Given the description of an element on the screen output the (x, y) to click on. 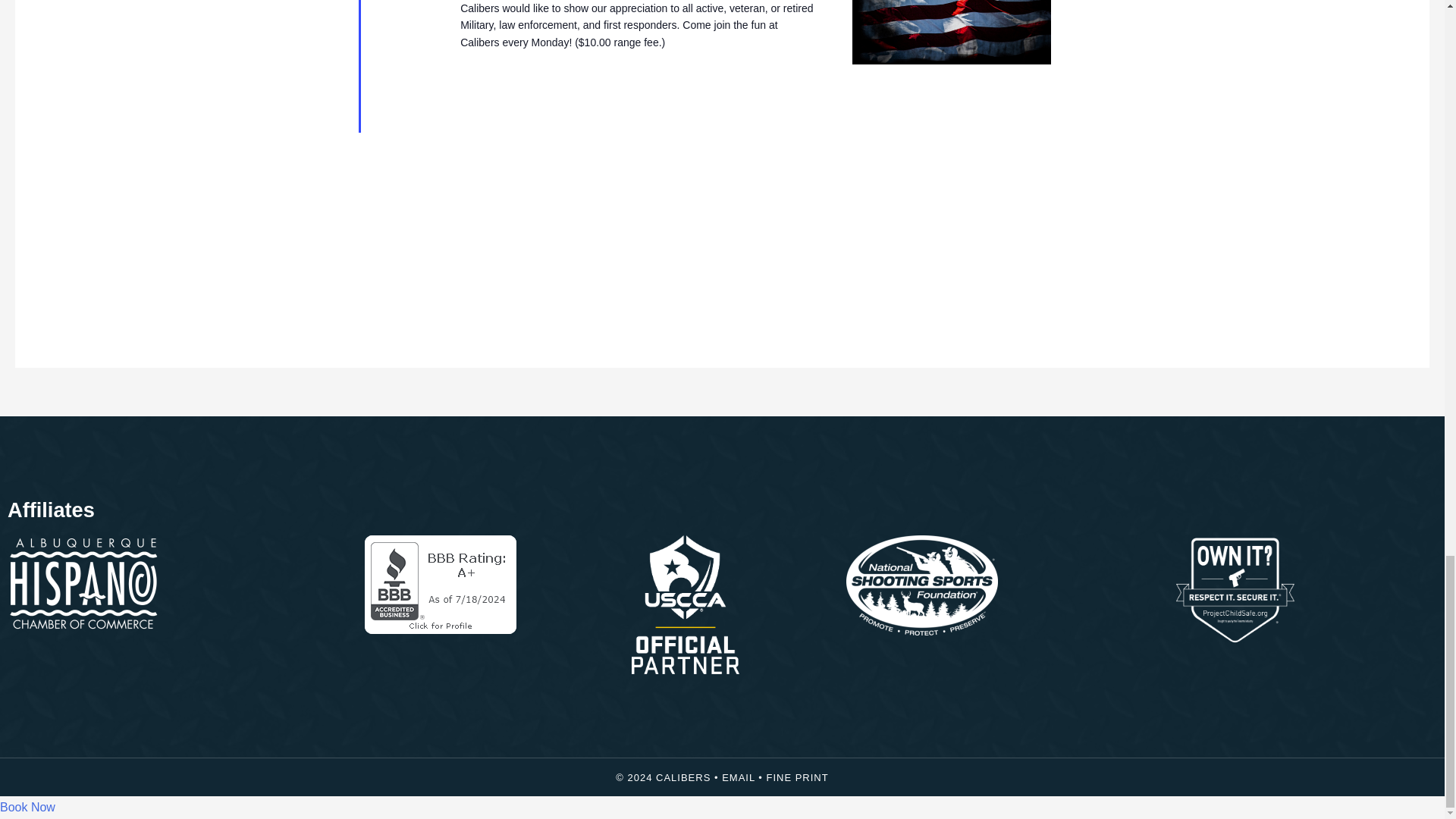
Military Mondays (951, 32)
